Given the description of an element on the screen output the (x, y) to click on. 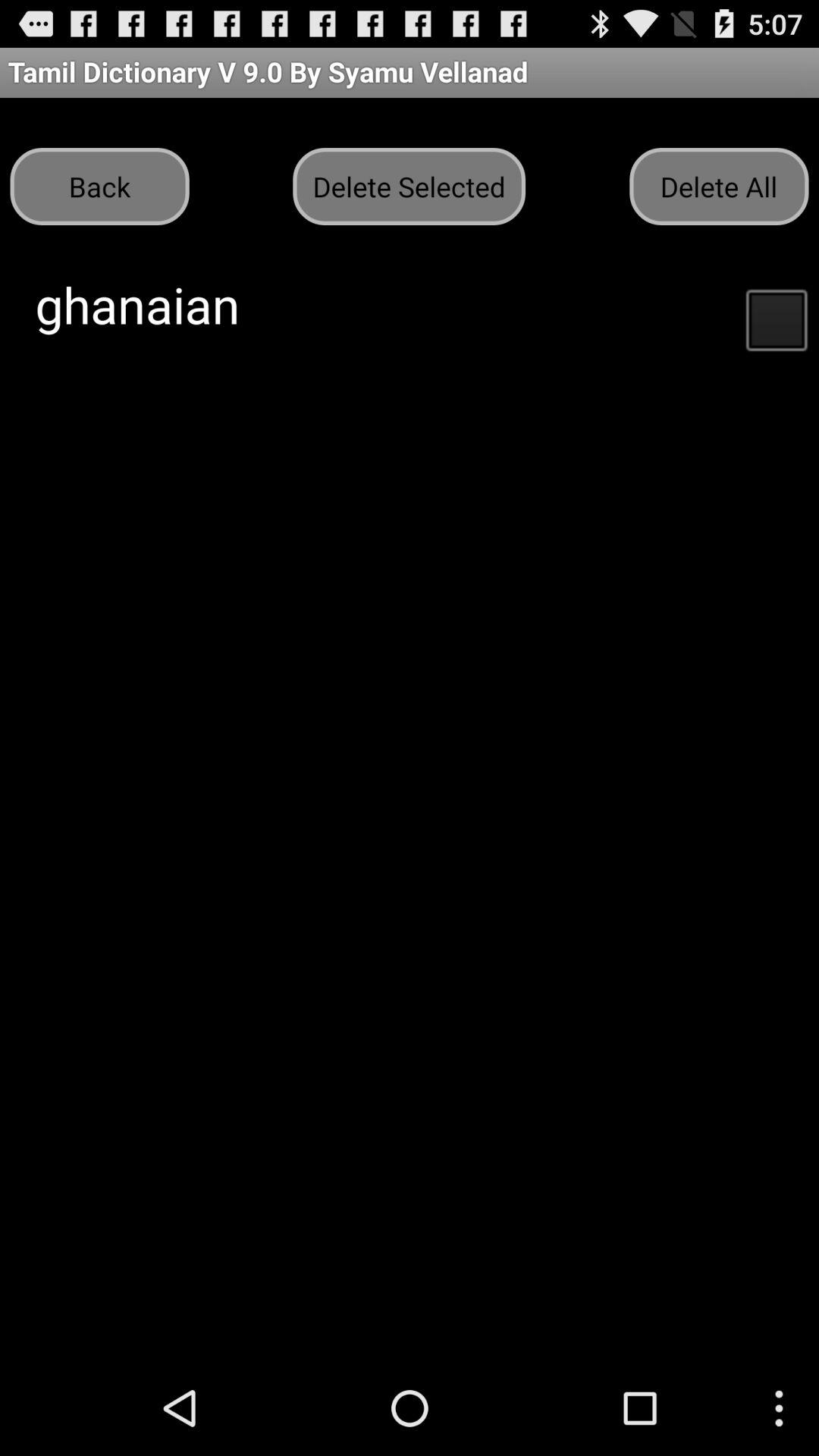
tap the ghanaian icon (137, 304)
